Given the description of an element on the screen output the (x, y) to click on. 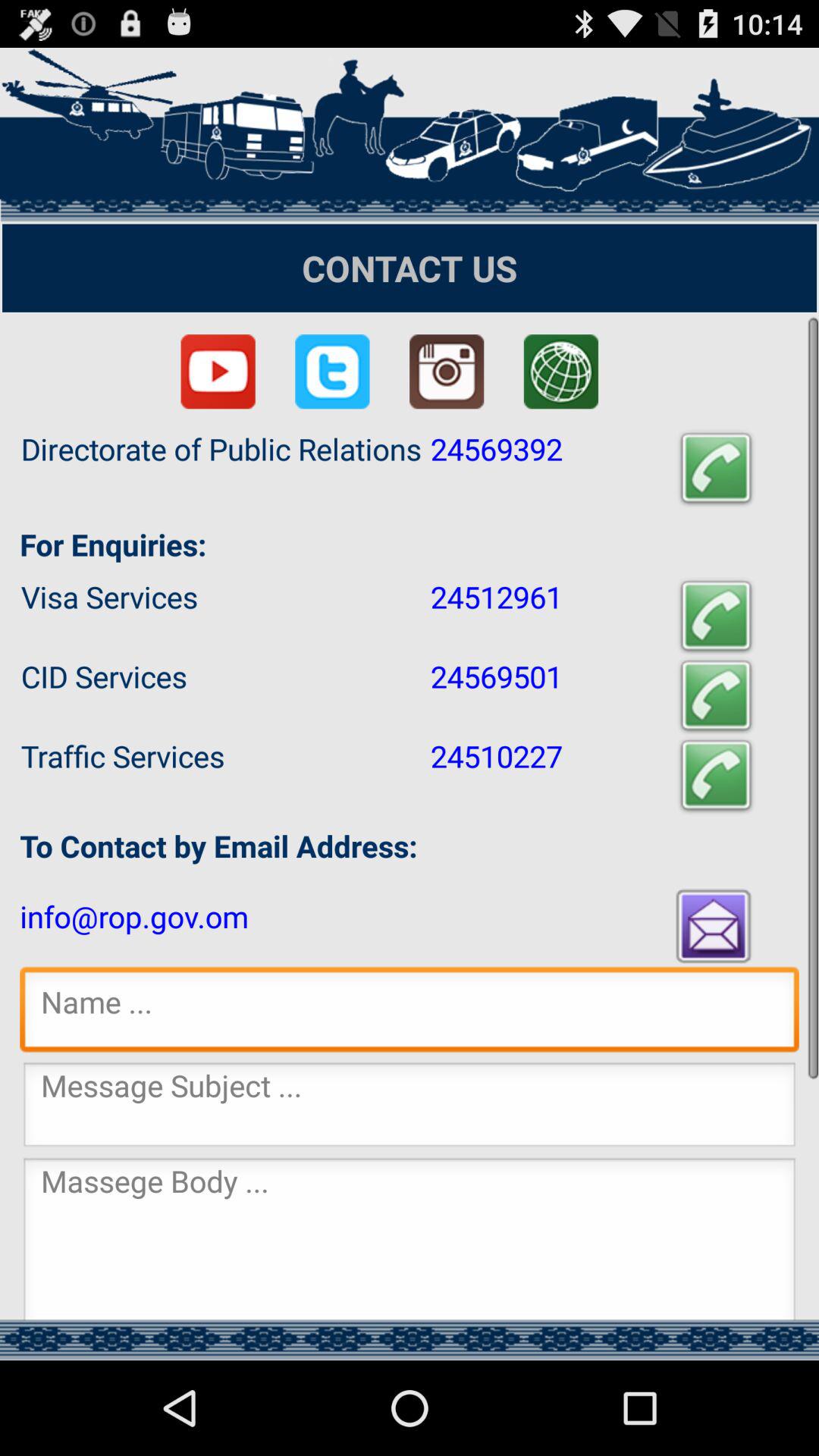
turn on the app next to the 24569501 item (716, 695)
